Given the description of an element on the screen output the (x, y) to click on. 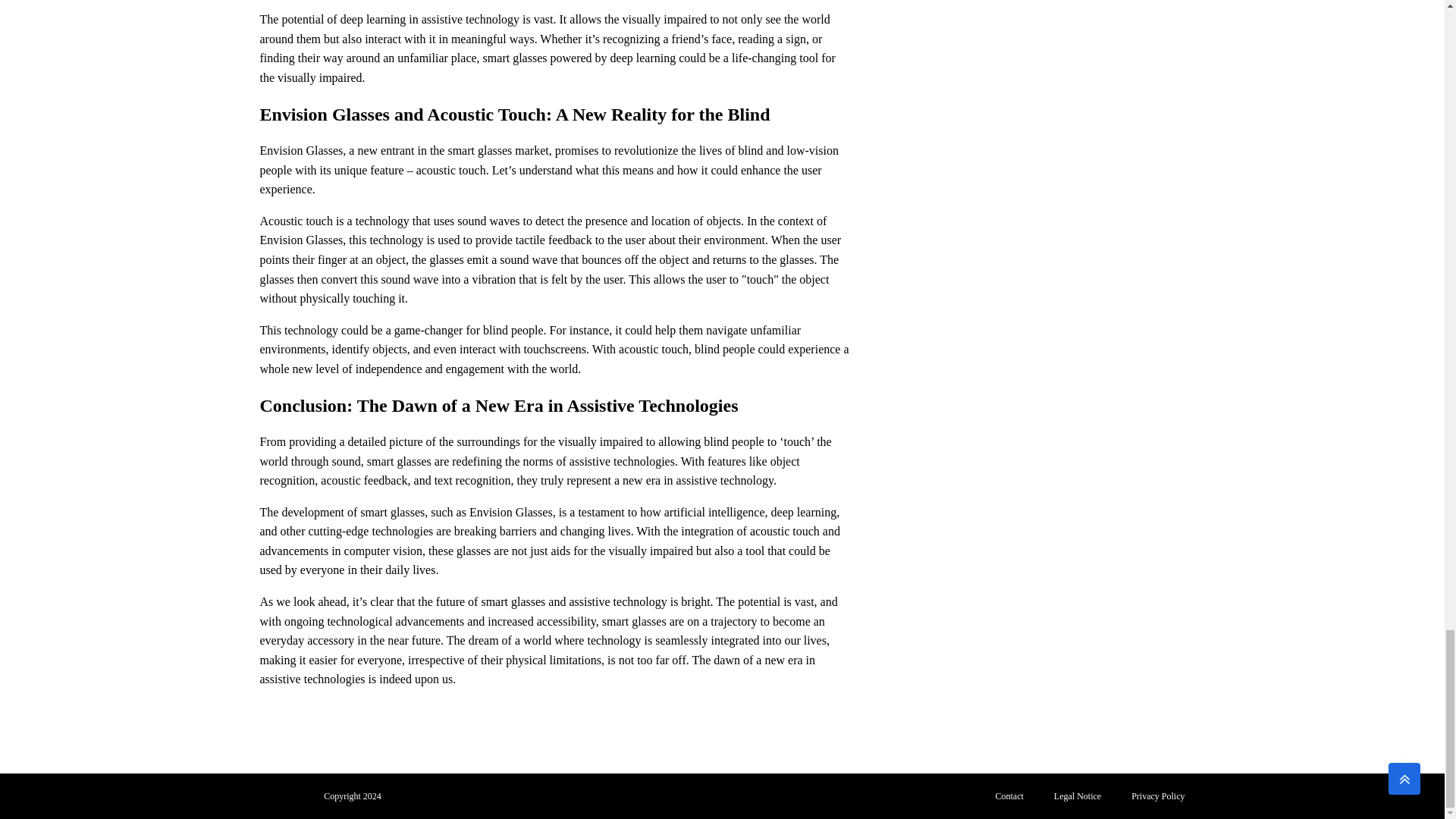
Privacy Policy (1157, 796)
Contact (1009, 796)
Legal Notice (1077, 796)
